Given the description of an element on the screen output the (x, y) to click on. 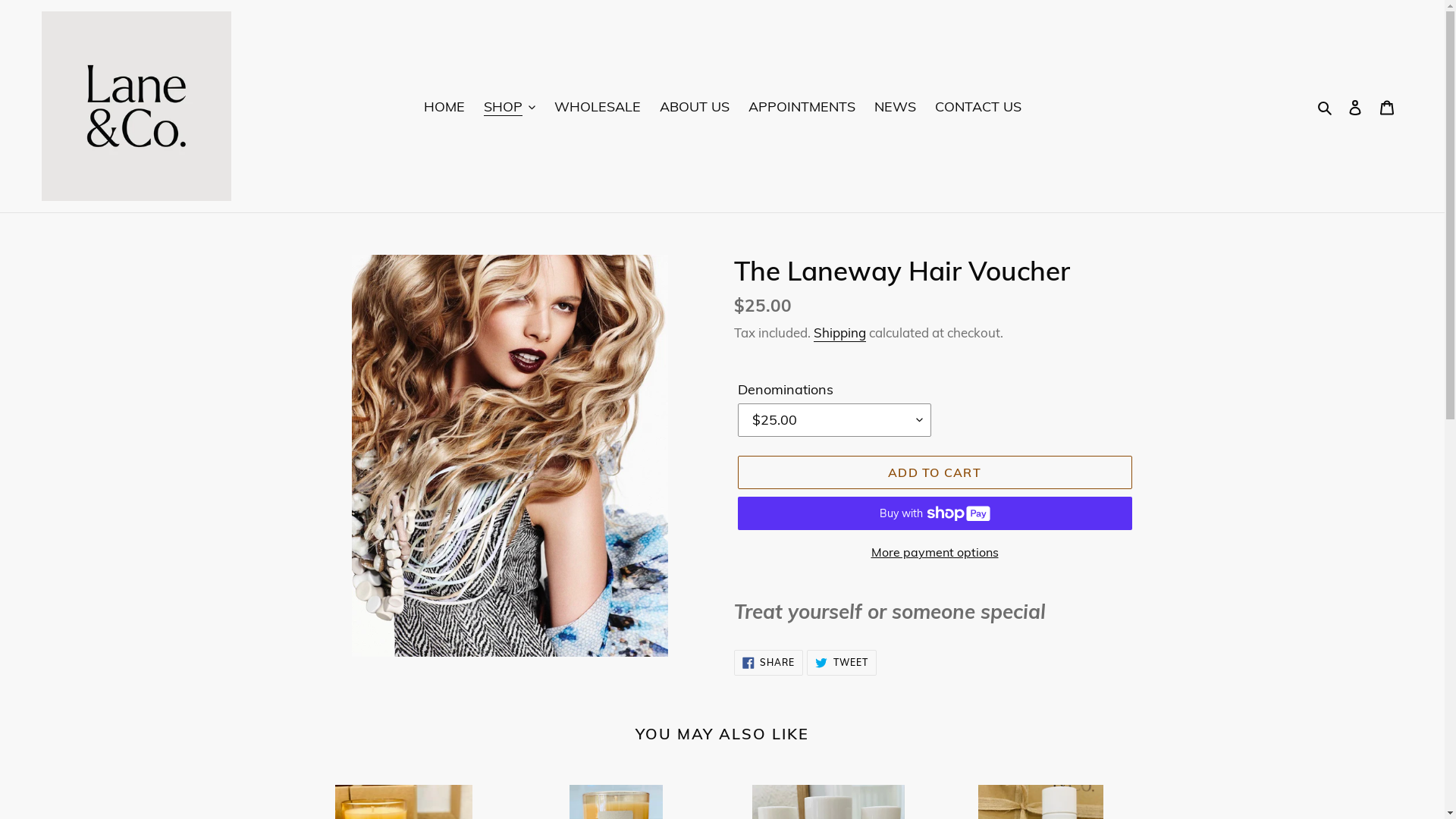
WHOLESALE Element type: text (596, 106)
NEWS Element type: text (894, 106)
Cart Element type: text (1386, 105)
ADD TO CART Element type: text (934, 472)
SHOP Element type: text (509, 106)
ABOUT US Element type: text (694, 106)
Search Element type: text (1325, 106)
TWEET
TWEET ON TWITTER Element type: text (841, 662)
Shipping Element type: text (838, 333)
APPOINTMENTS Element type: text (801, 106)
More payment options Element type: text (934, 551)
SHARE
SHARE ON FACEBOOK Element type: text (768, 662)
HOME Element type: text (443, 106)
CONTACT US Element type: text (977, 106)
Log in Element type: text (1355, 105)
